Given the description of an element on the screen output the (x, y) to click on. 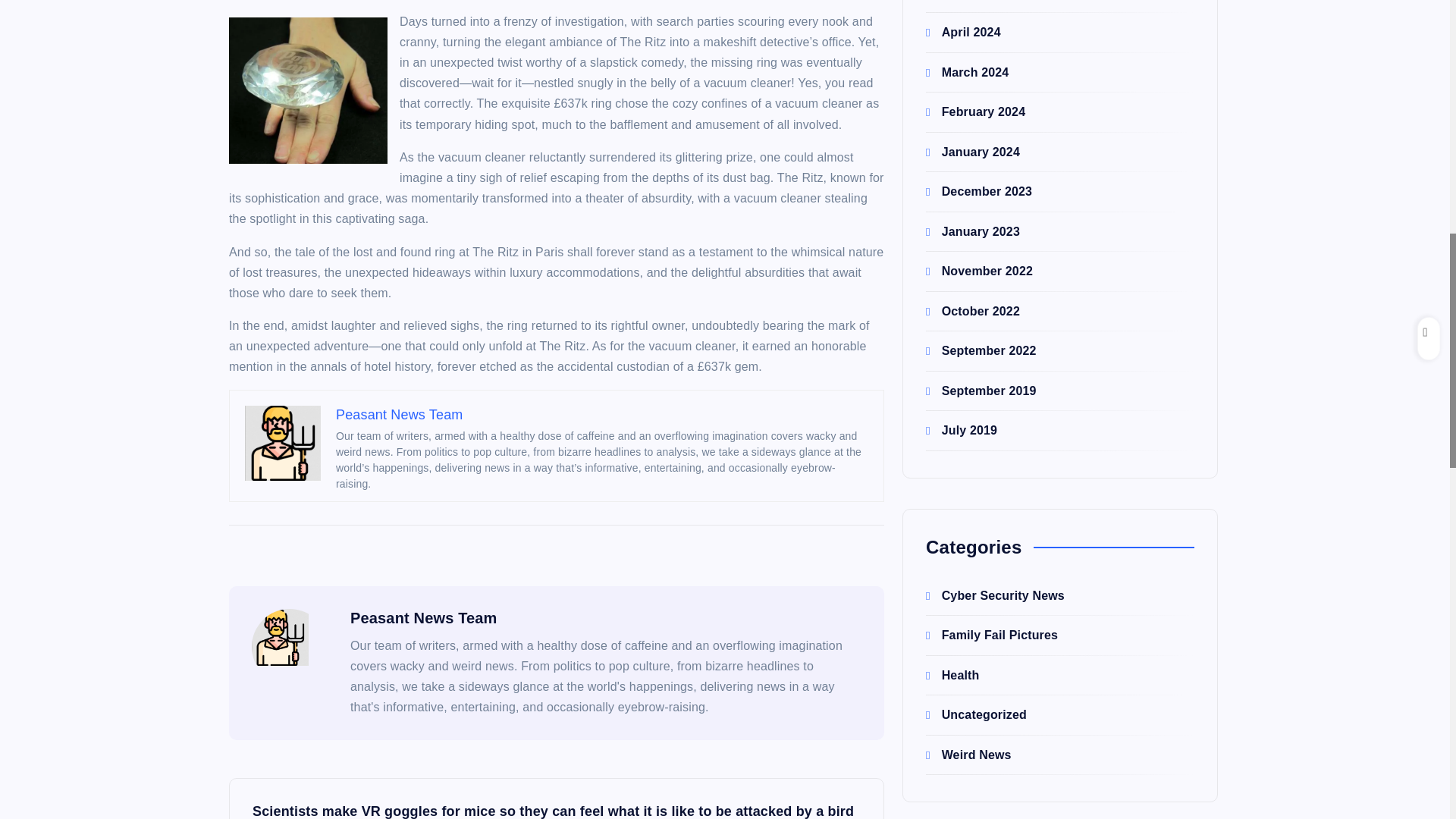
January 2023 (973, 5)
November 2022 (979, 43)
Peasant News Team (399, 414)
October 2022 (973, 83)
